Given the description of an element on the screen output the (x, y) to click on. 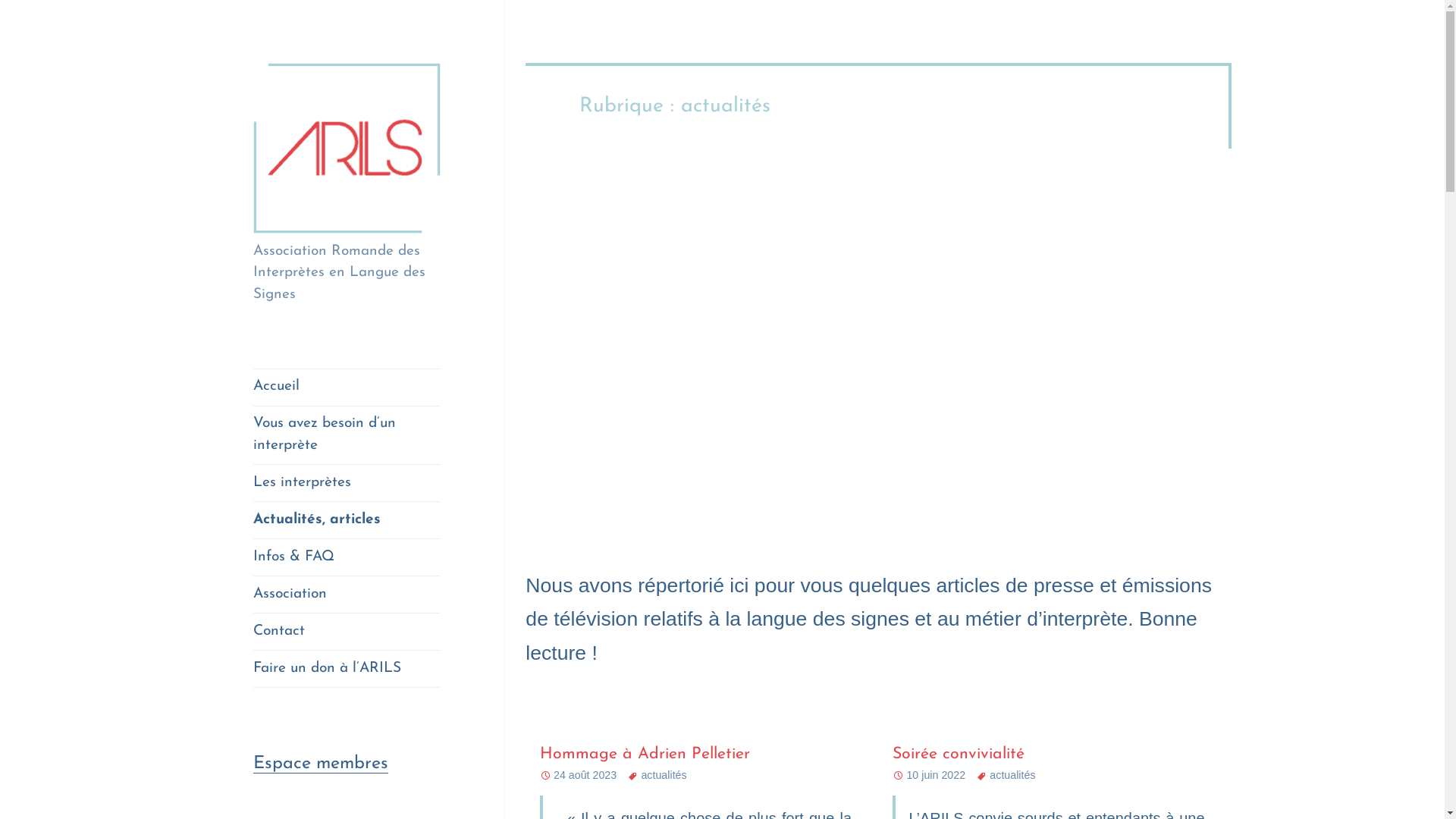
Contact Element type: text (347, 631)
Espace membres Element type: text (320, 763)
Association Element type: text (347, 594)
10 juin 2022 Element type: text (935, 774)
Accueil Element type: text (347, 387)
Infos & FAQ Element type: text (347, 557)
